Given the description of an element on the screen output the (x, y) to click on. 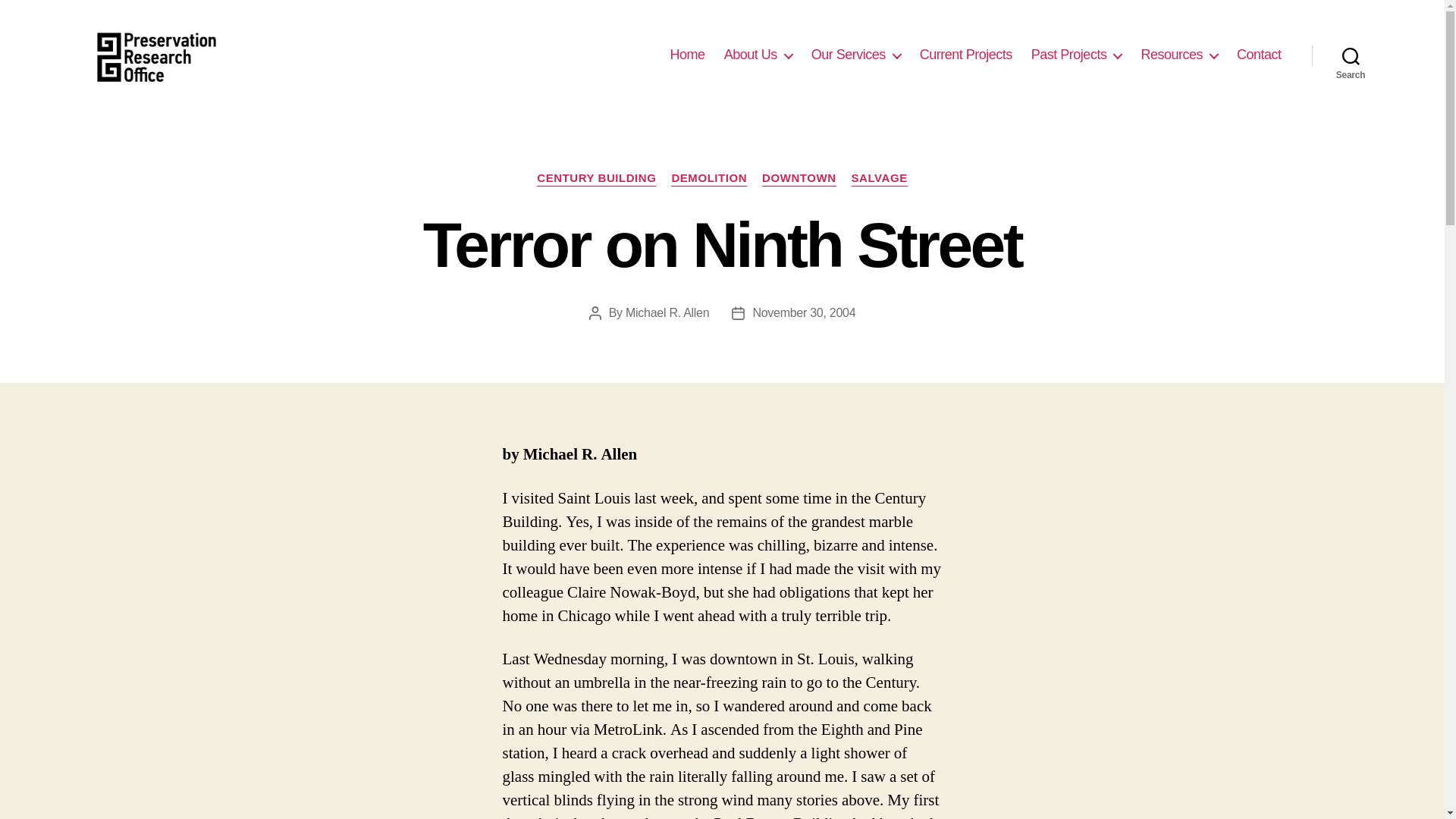
Home (686, 54)
Past Projects (1076, 54)
Our Services (855, 54)
Search (1350, 55)
Contact (1258, 54)
Current Projects (965, 54)
Resources (1178, 54)
About Us (757, 54)
